Given the description of an element on the screen output the (x, y) to click on. 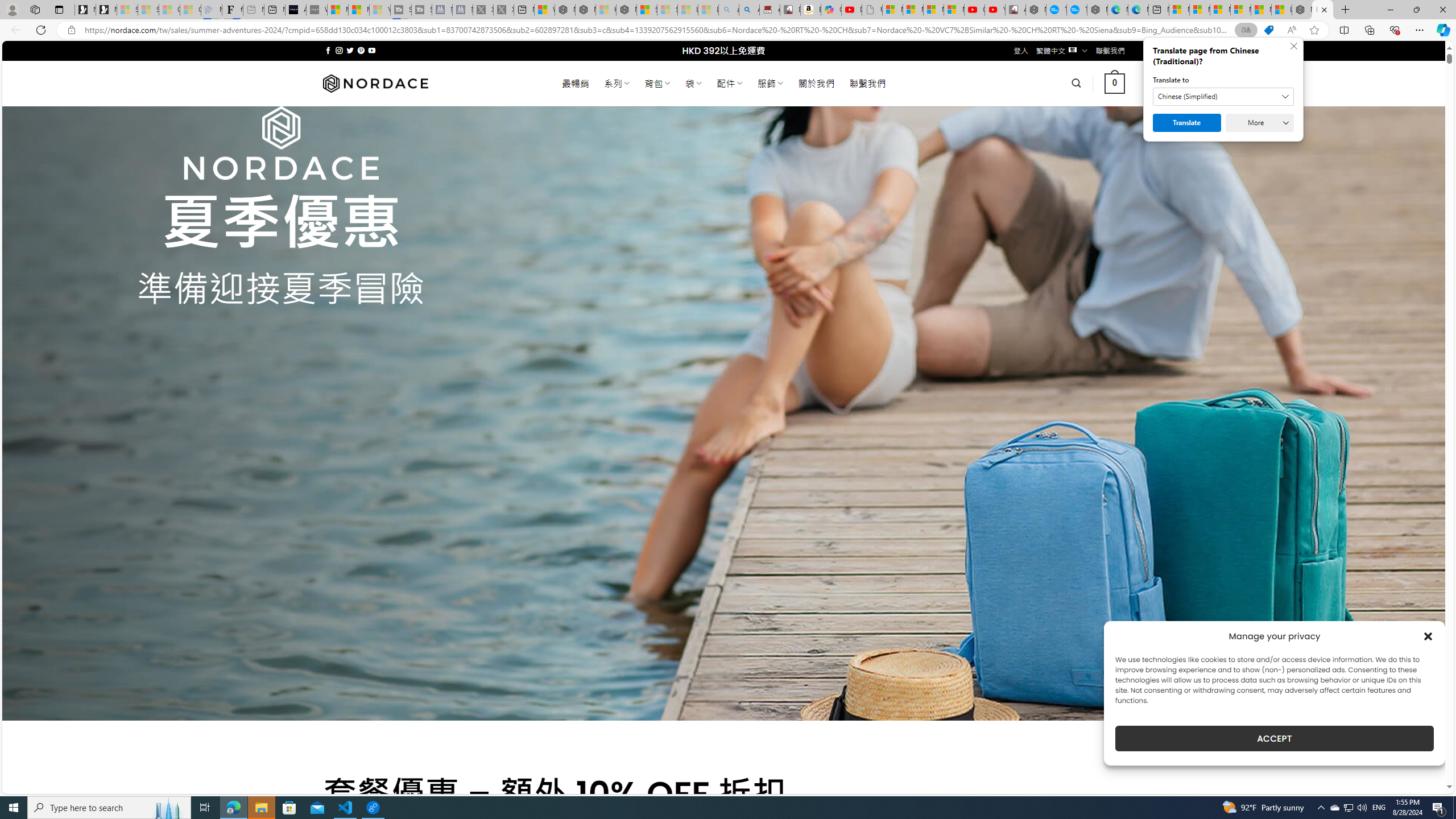
Follow on Pinterest (360, 50)
 0  (1115, 83)
Translate (1187, 122)
amazon - Search - Sleeping (728, 9)
